Given the description of an element on the screen output the (x, y) to click on. 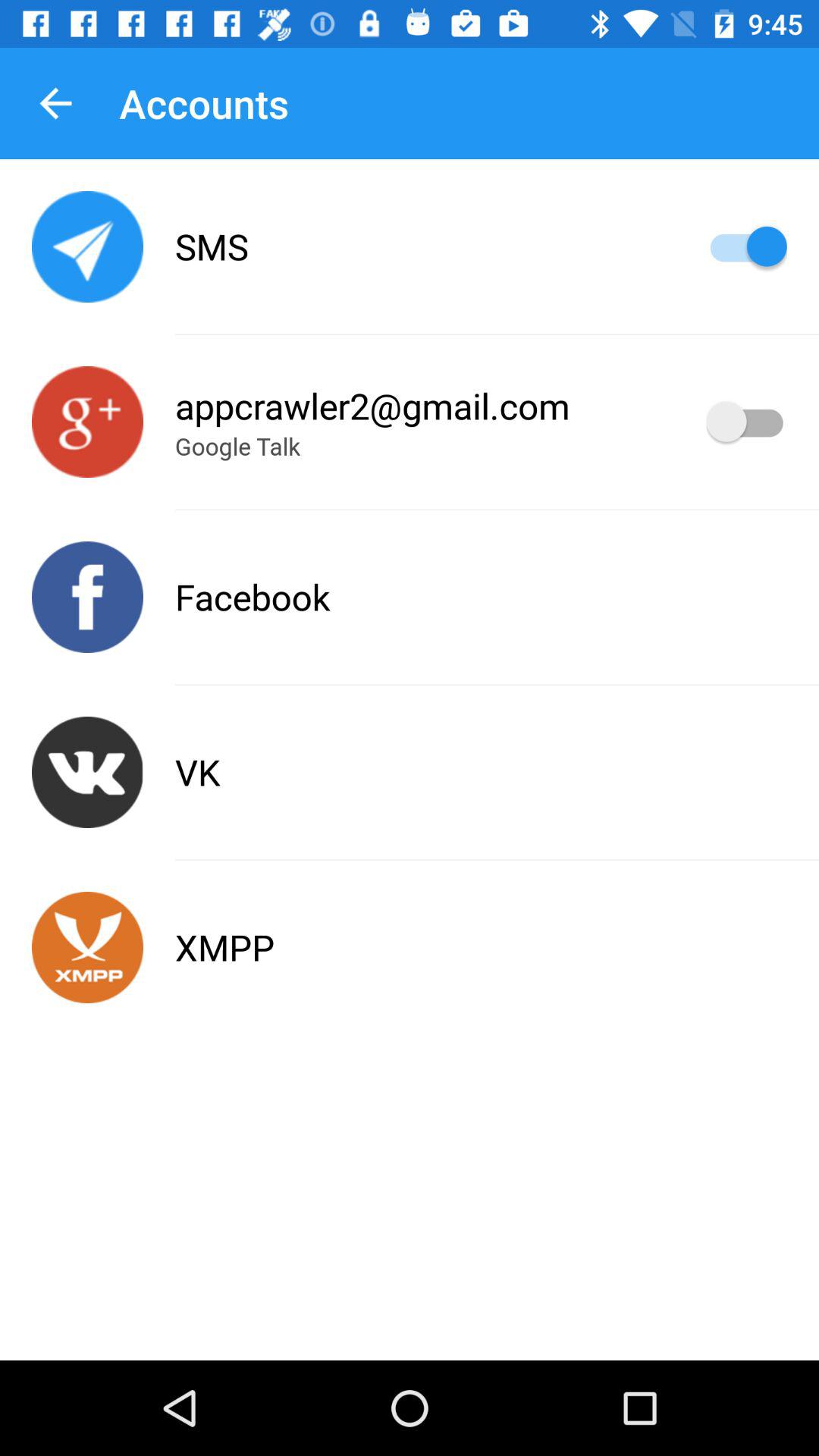
application link (87, 421)
